Given the description of an element on the screen output the (x, y) to click on. 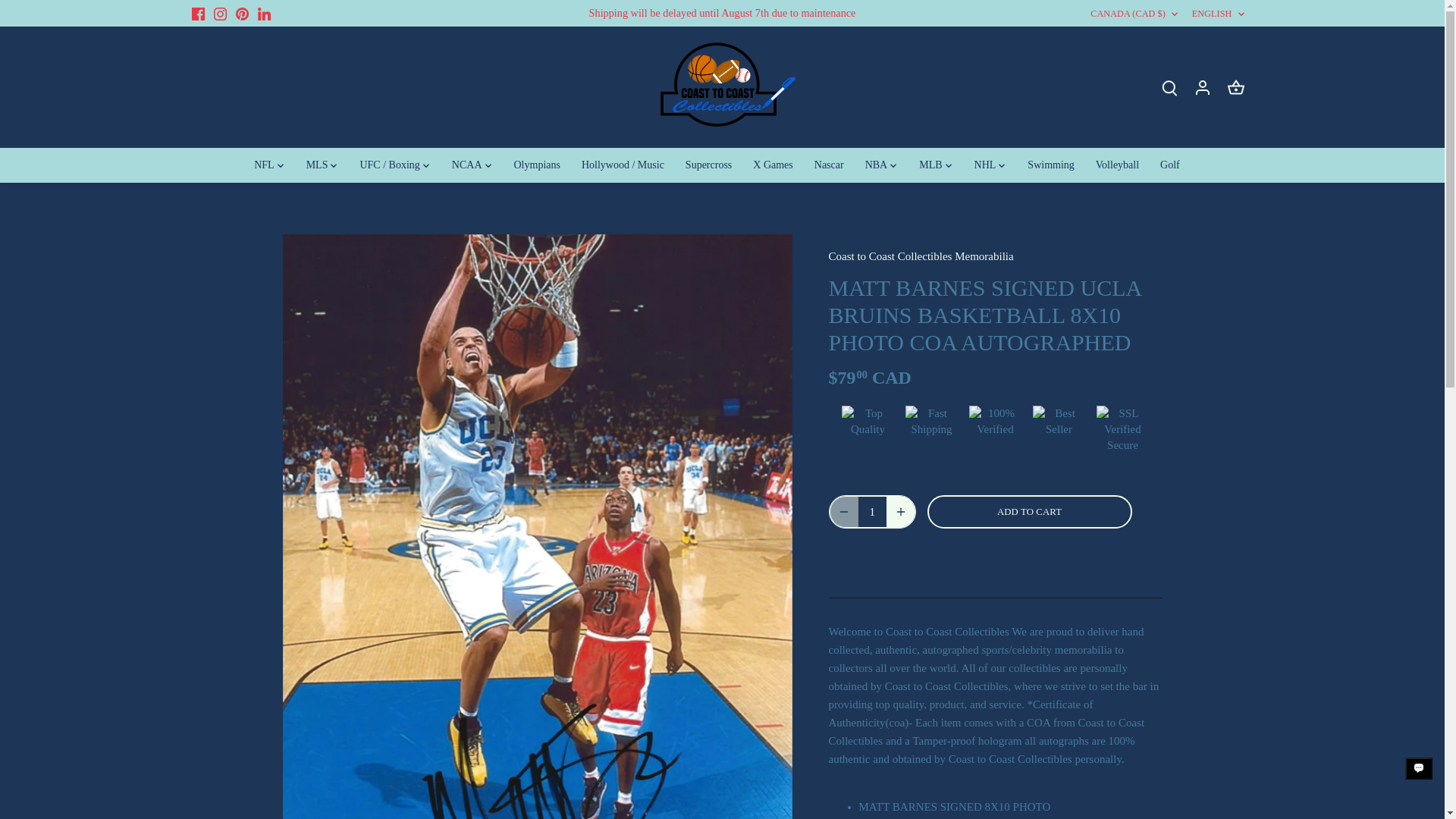
1 (872, 511)
Facebook (196, 13)
Instagram (220, 13)
Pinterest (241, 13)
